Given the description of an element on the screen output the (x, y) to click on. 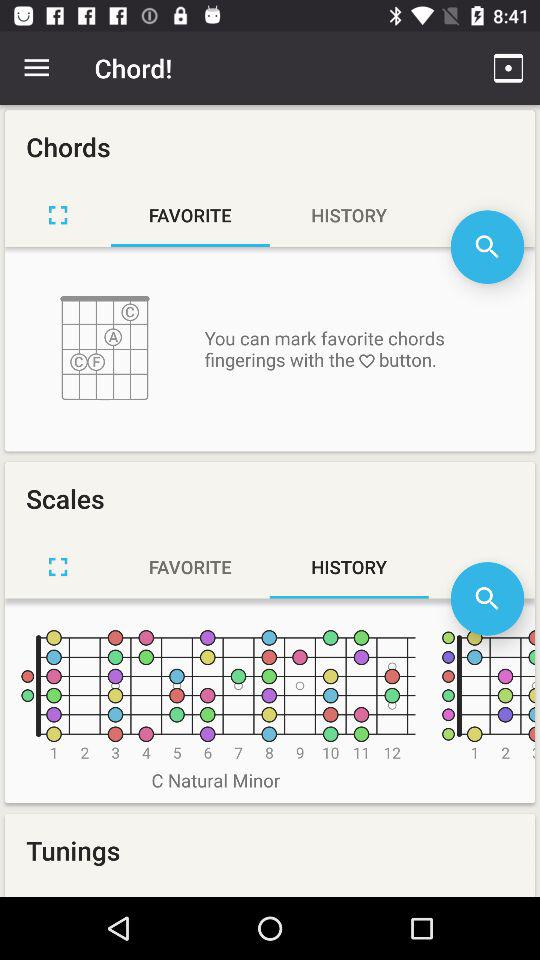
search scales history (487, 598)
